Given the description of an element on the screen output the (x, y) to click on. 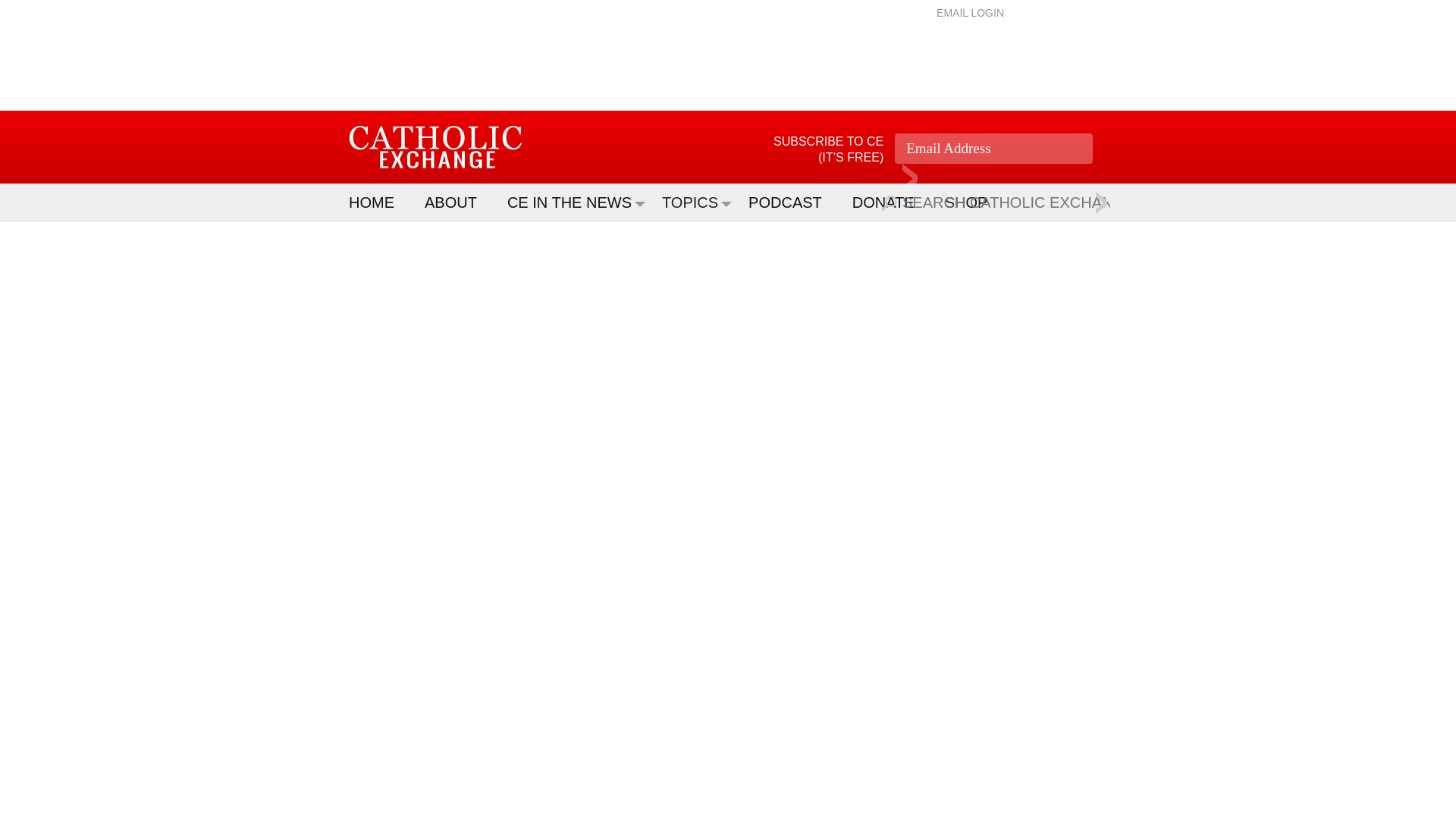
EMAIL LOGIN (970, 12)
HOME (379, 201)
Catholic Exchange (435, 146)
ABOUT (458, 201)
CE IN THE NEWS (576, 201)
3rd party ad content (727, 61)
SHOP (973, 201)
DONATE (890, 201)
PODCAST (792, 201)
